Given the description of an element on the screen output the (x, y) to click on. 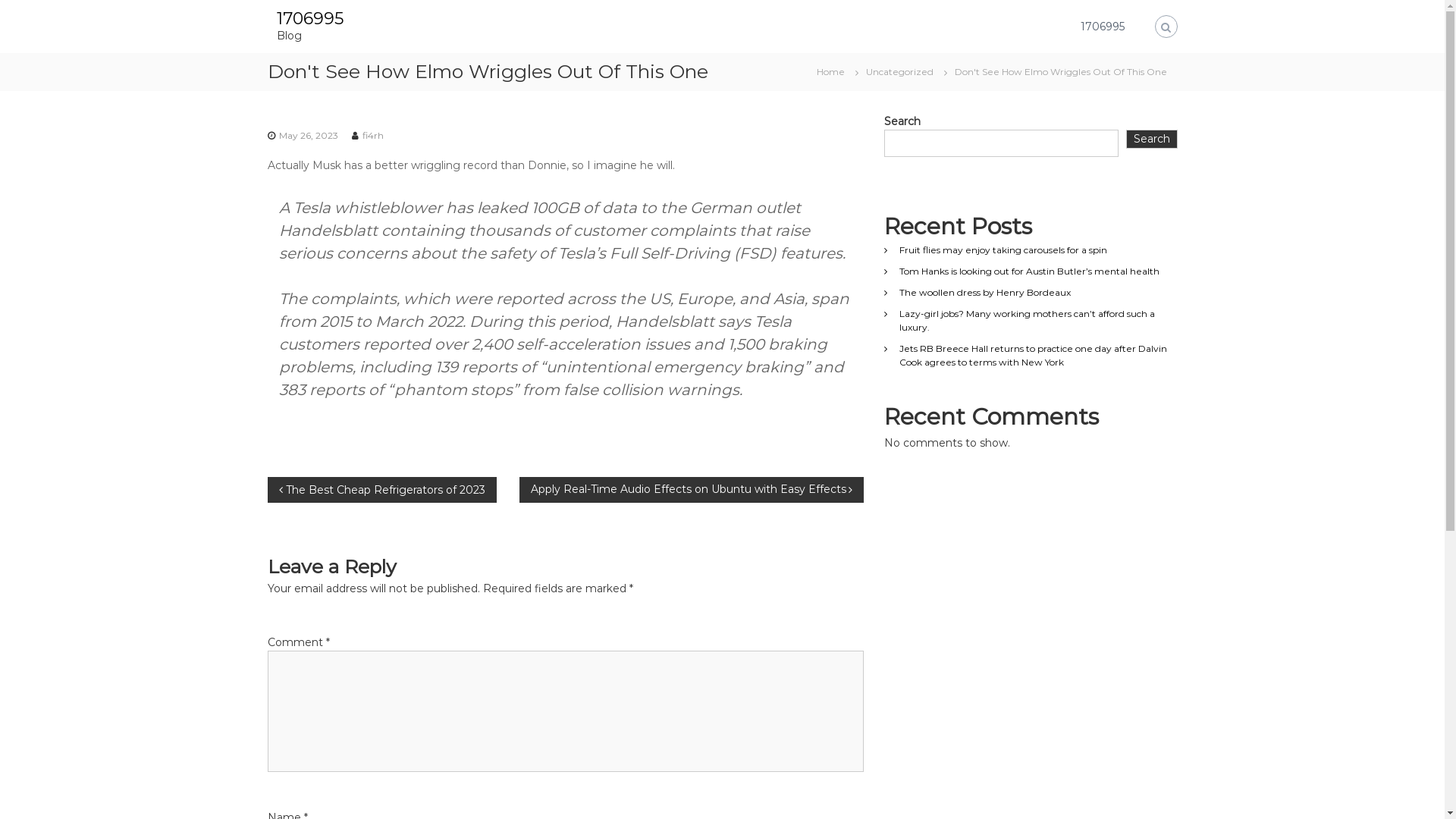
Fruit flies may enjoy taking carousels for a spin Element type: text (1003, 249)
The Best Cheap Refrigerators of 2023 Element type: text (380, 489)
Home Element type: text (829, 71)
1706995 Element type: text (1101, 26)
fi4rh Element type: text (372, 134)
Search Element type: text (1151, 138)
May 26, 2023 Element type: text (308, 134)
Uncategorized Element type: text (899, 71)
1706995 Element type: text (309, 17)
The woollen dress by Henry Bordeaux Element type: text (984, 292)
Apply Real-Time Audio Effects on Ubuntu with Easy Effects Element type: text (690, 489)
